Given the description of an element on the screen output the (x, y) to click on. 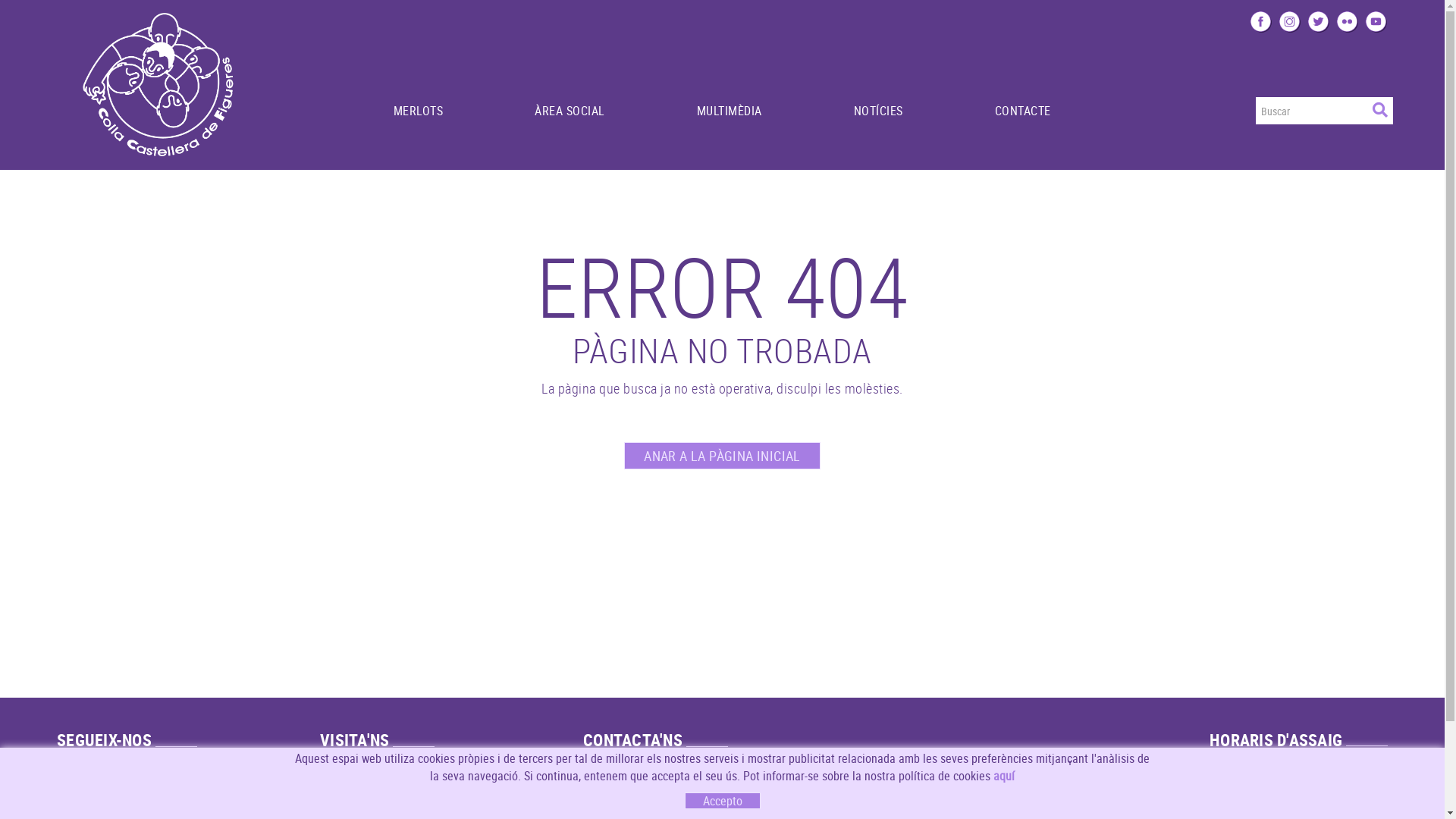
info@figueres.cc Element type: text (630, 786)
CONTACTE Element type: text (1022, 91)
MERLOTS Element type: text (417, 91)
